Given the description of an element on the screen output the (x, y) to click on. 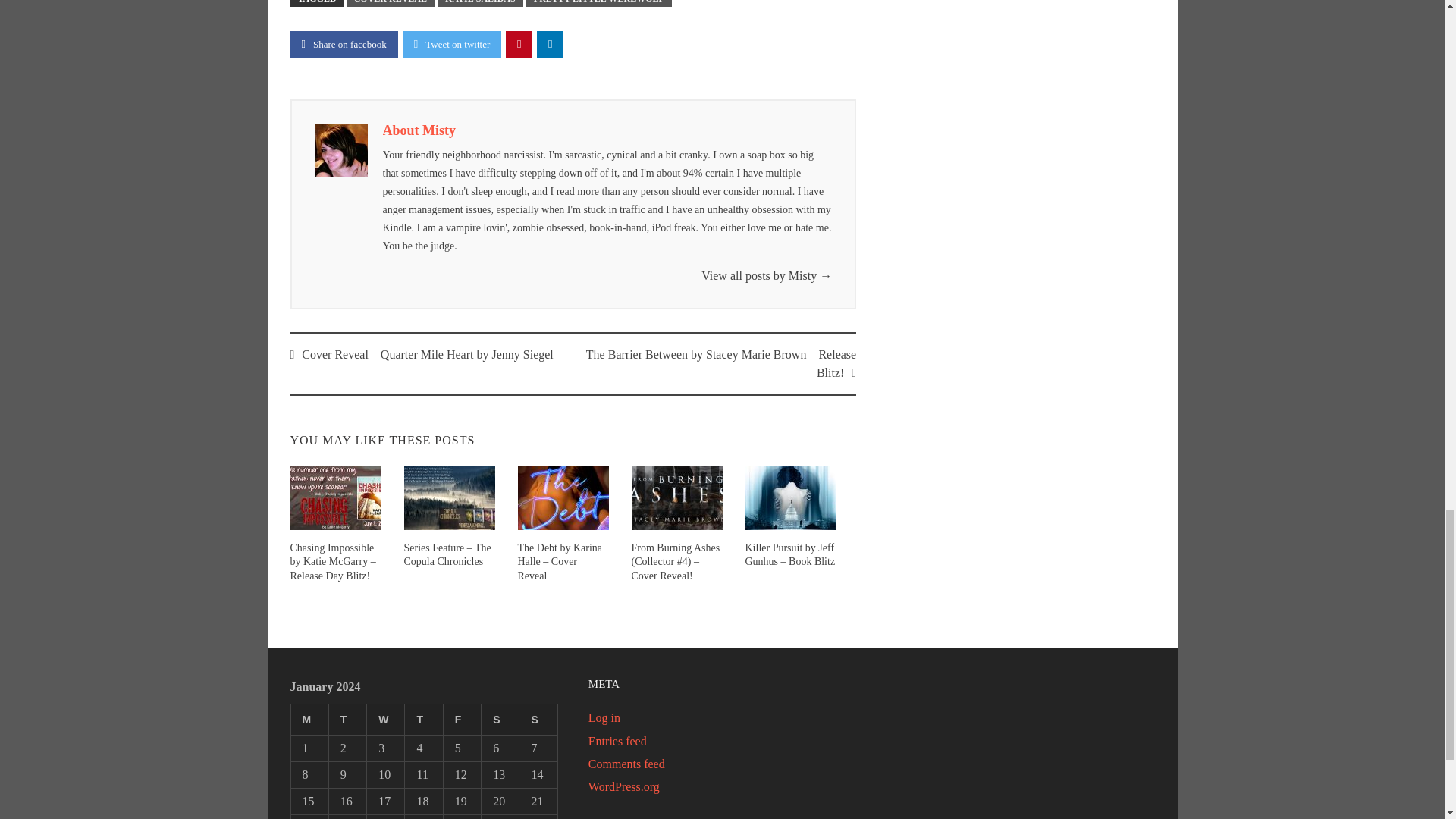
Monday (309, 718)
COVER REVEAL (389, 3)
Thursday (423, 718)
PRETTY LITTLE WEREWOLF (598, 3)
Saturday (500, 718)
Tweet on twitter (452, 44)
Wednesday (385, 718)
KATIE SALIDAS (480, 3)
Sunday (538, 718)
Share on facebook (343, 44)
